Given the description of an element on the screen output the (x, y) to click on. 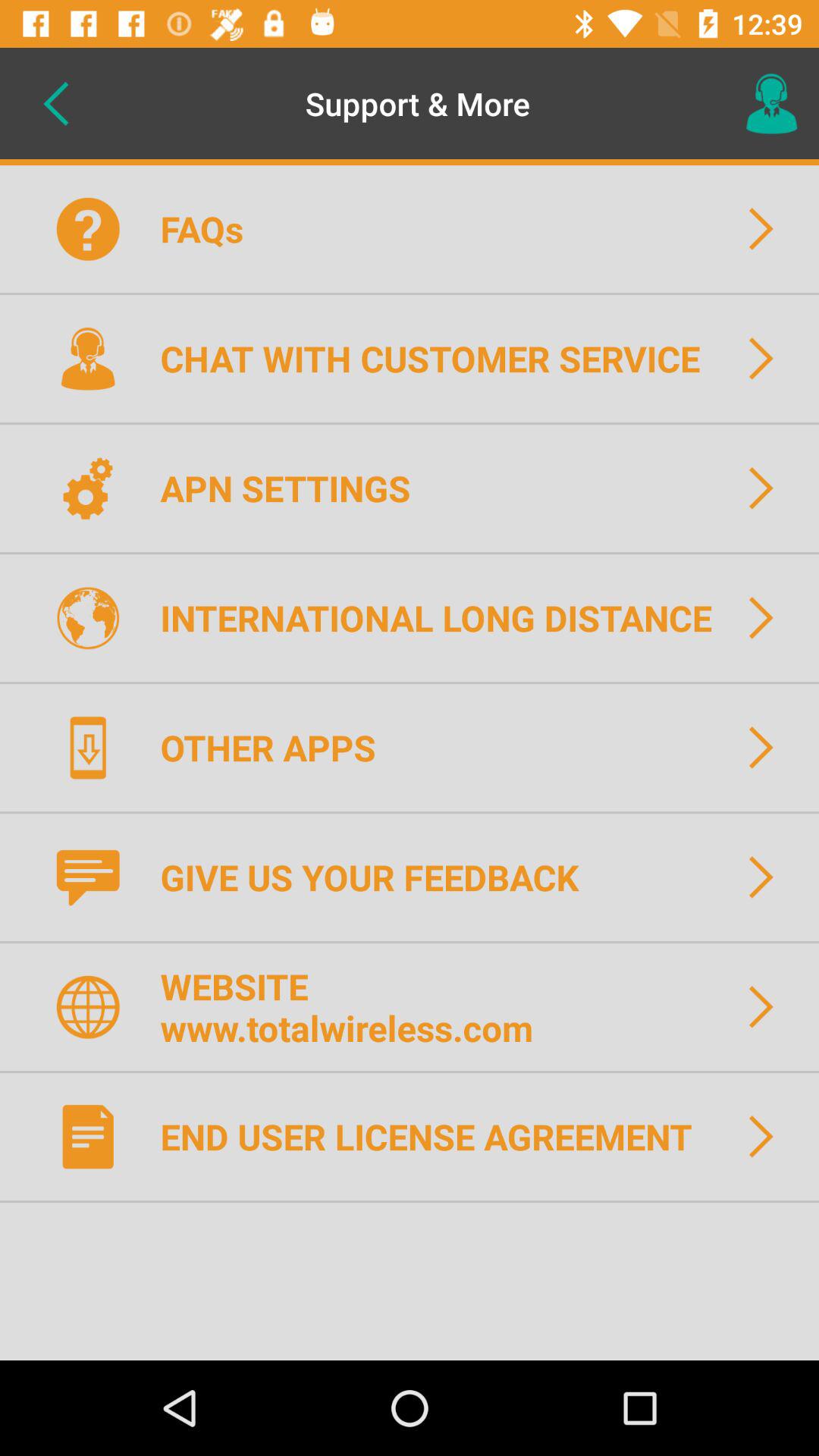
select the faqs item (211, 228)
